Given the description of an element on the screen output the (x, y) to click on. 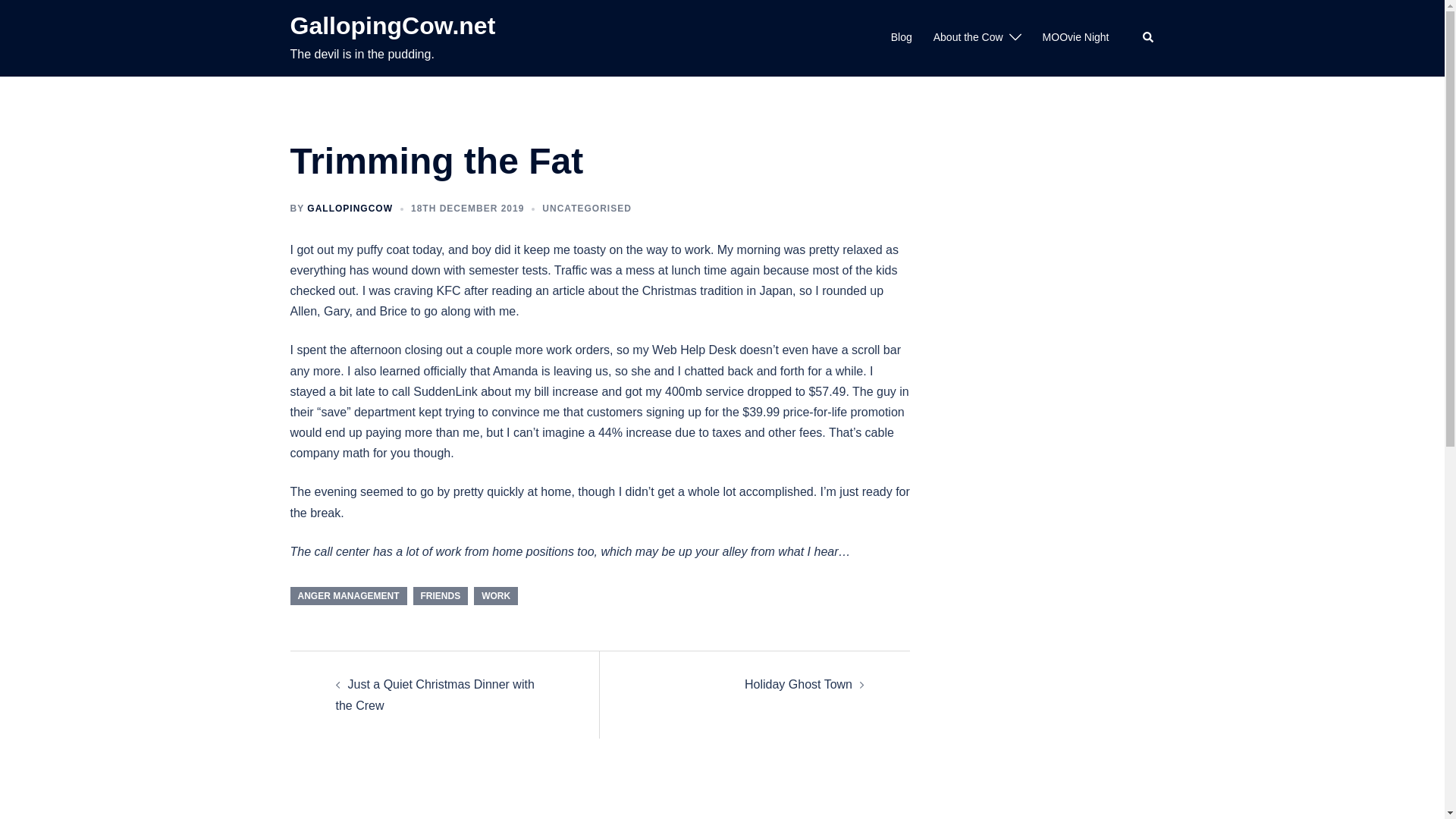
UNCATEGORISED (585, 208)
Holiday Ghost Town (797, 684)
ANGER MANAGEMENT (347, 596)
Search (1147, 37)
About the Cow (968, 37)
GallopingCow.net (392, 25)
Just a Quiet Christmas Dinner with the Crew (434, 694)
GALLOPINGCOW (350, 208)
18TH DECEMBER 2019 (467, 208)
WORK (496, 596)
MOOvie Night (1075, 37)
Blog (901, 37)
FRIENDS (439, 596)
